Given the description of an element on the screen output the (x, y) to click on. 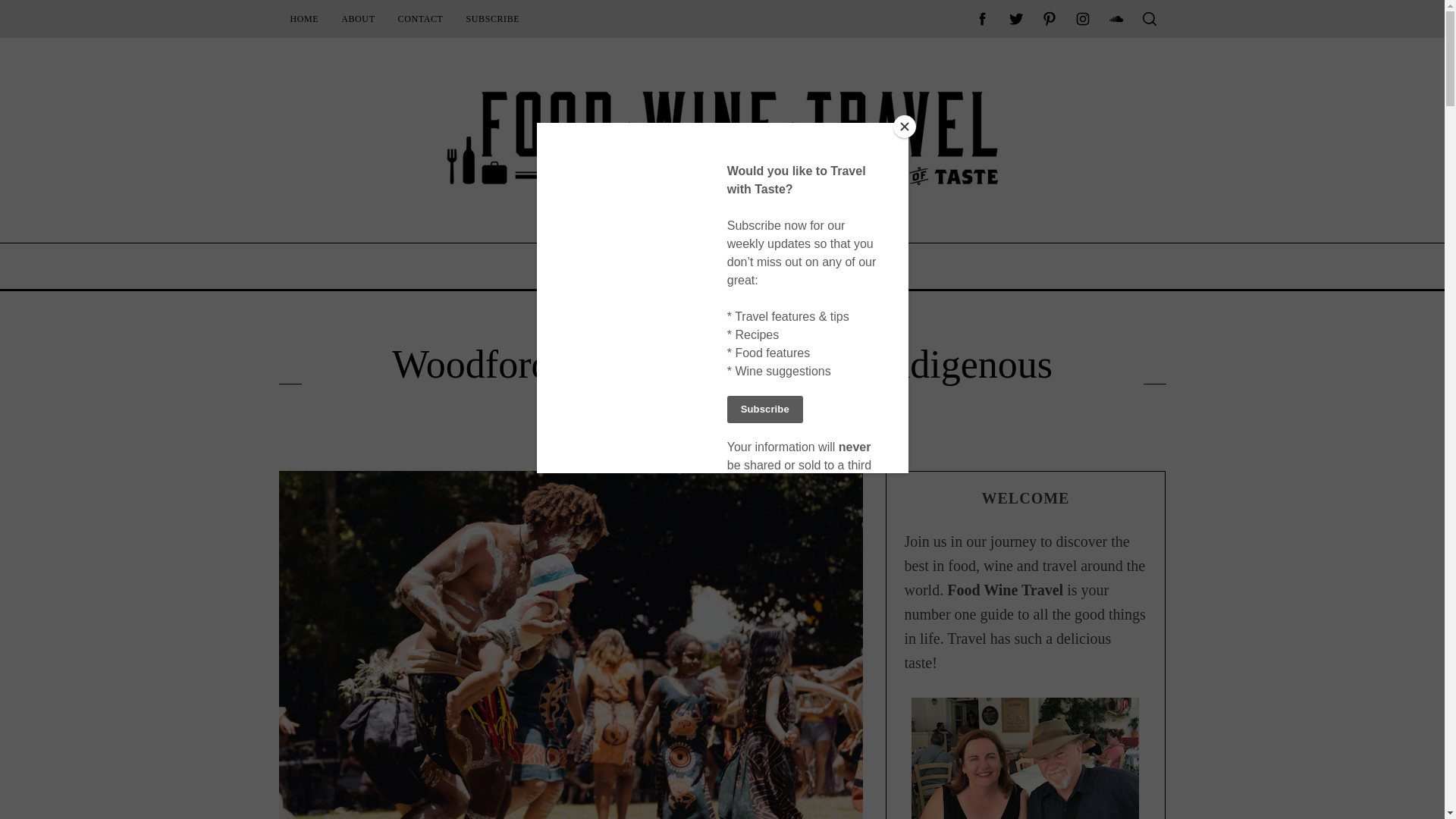
FOOD (619, 266)
CONTACT (420, 18)
MORE (823, 266)
Australia (659, 323)
Music (702, 323)
Home Page (304, 18)
ABOUT (357, 18)
WINE (681, 266)
SUBSCRIBE (492, 18)
Maurie O'Connor (730, 436)
HOME (304, 18)
TRAVEL (750, 266)
